Given the description of an element on the screen output the (x, y) to click on. 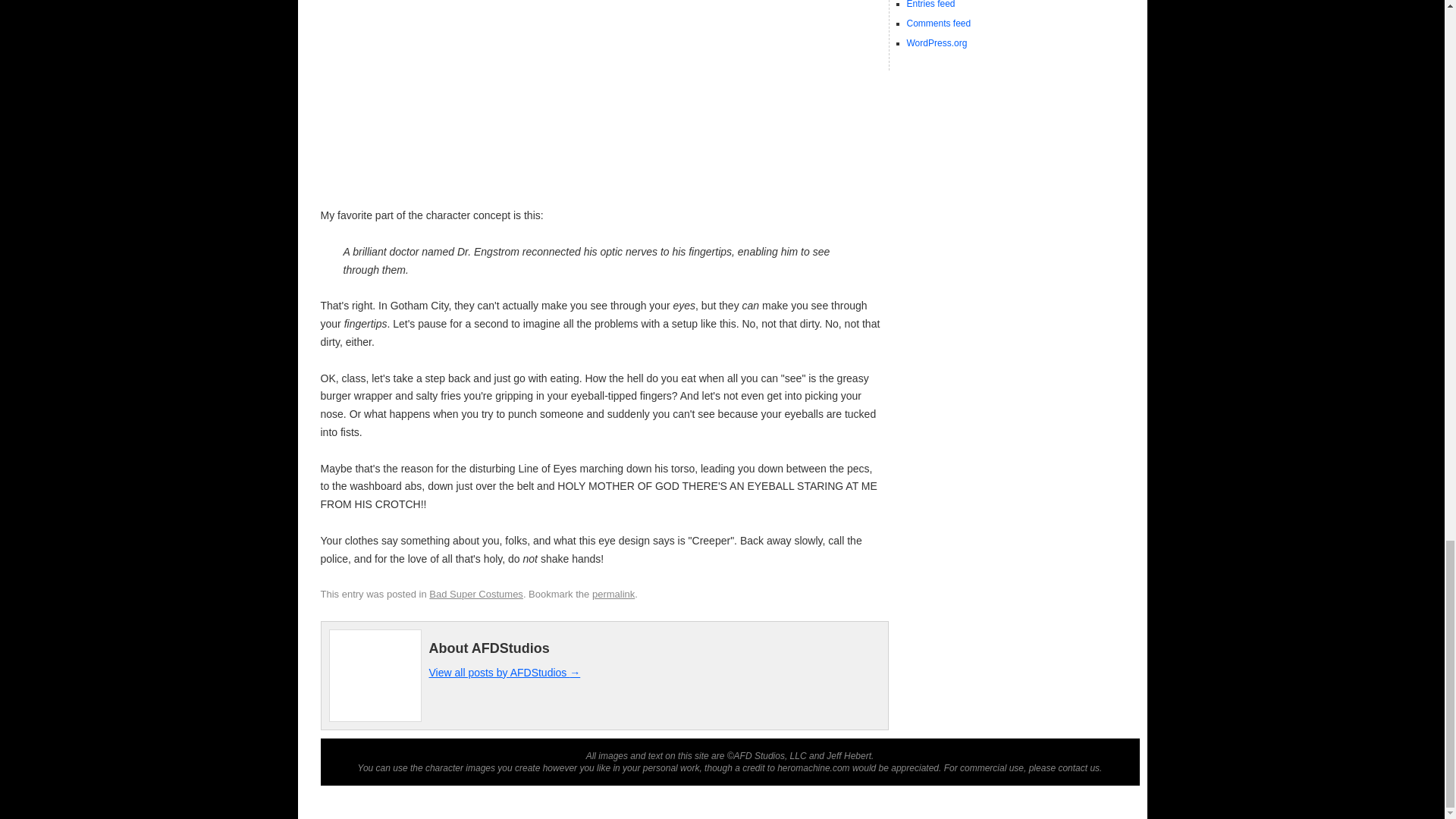
permalink (613, 593)
Bad Super Costumes (475, 593)
Permalink to The eyes have it (613, 593)
